Given the description of an element on the screen output the (x, y) to click on. 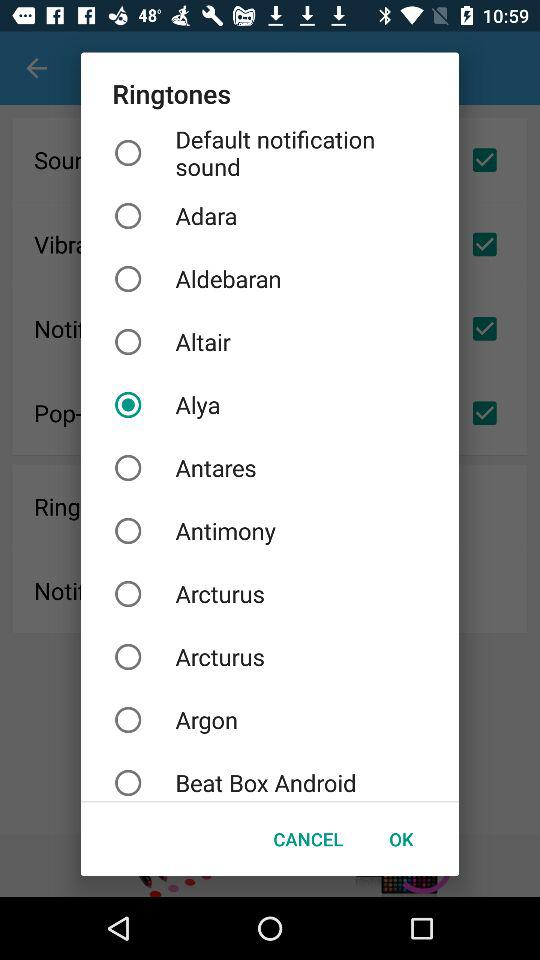
scroll to cancel (308, 838)
